Given the description of an element on the screen output the (x, y) to click on. 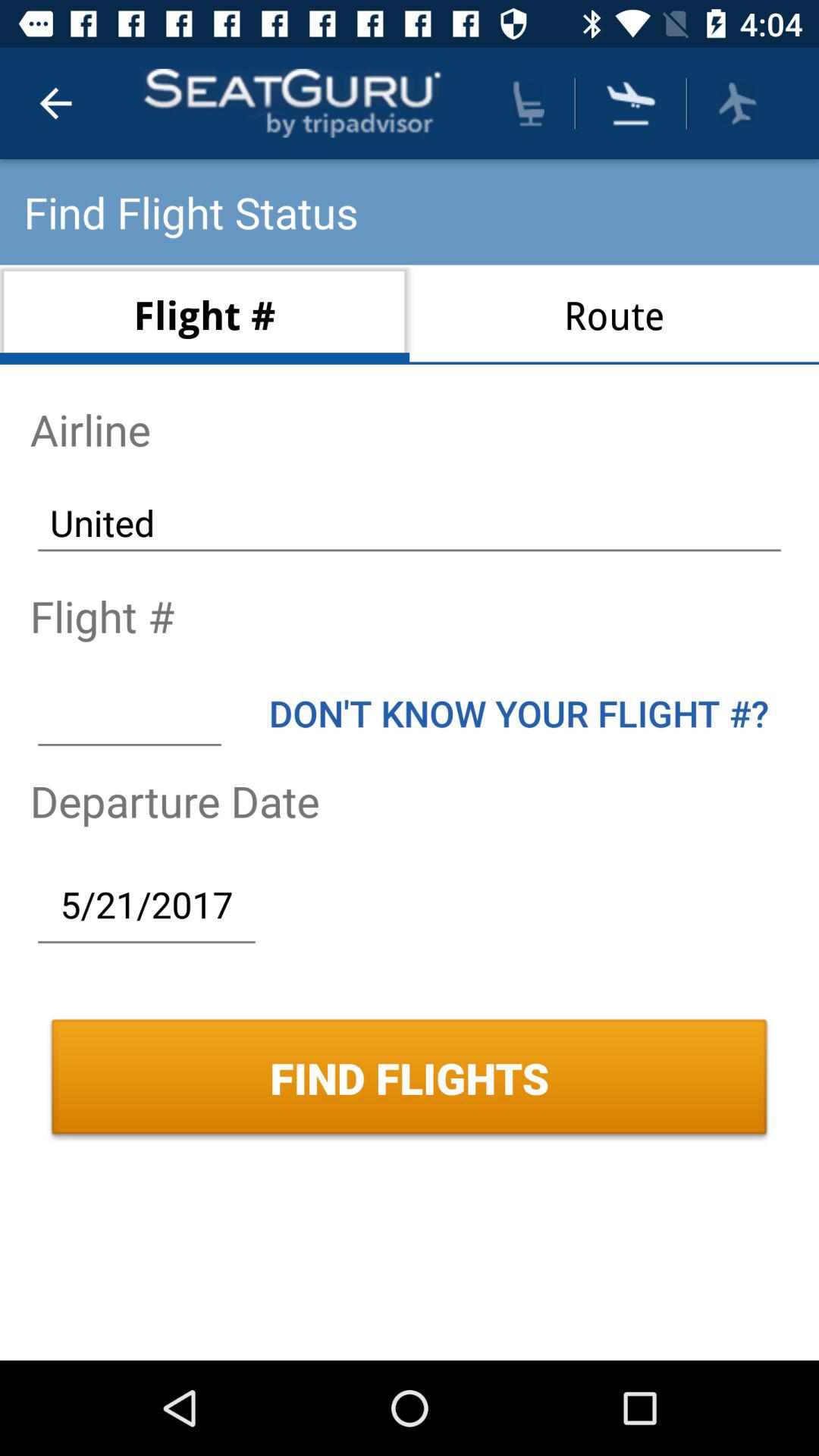
turn off the find flights item (409, 1077)
